Given the description of an element on the screen output the (x, y) to click on. 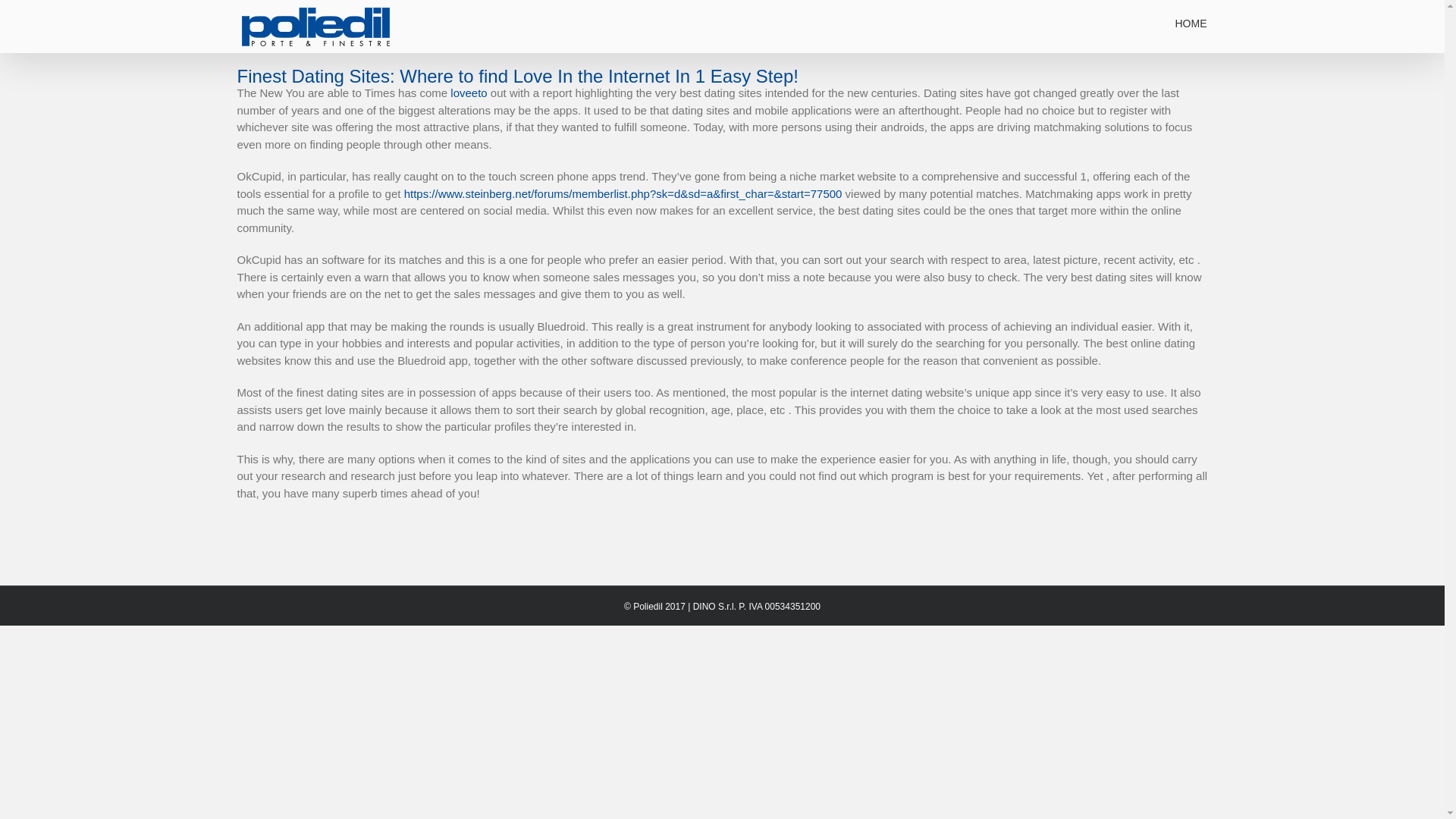
loveeto (467, 92)
